Given the description of an element on the screen output the (x, y) to click on. 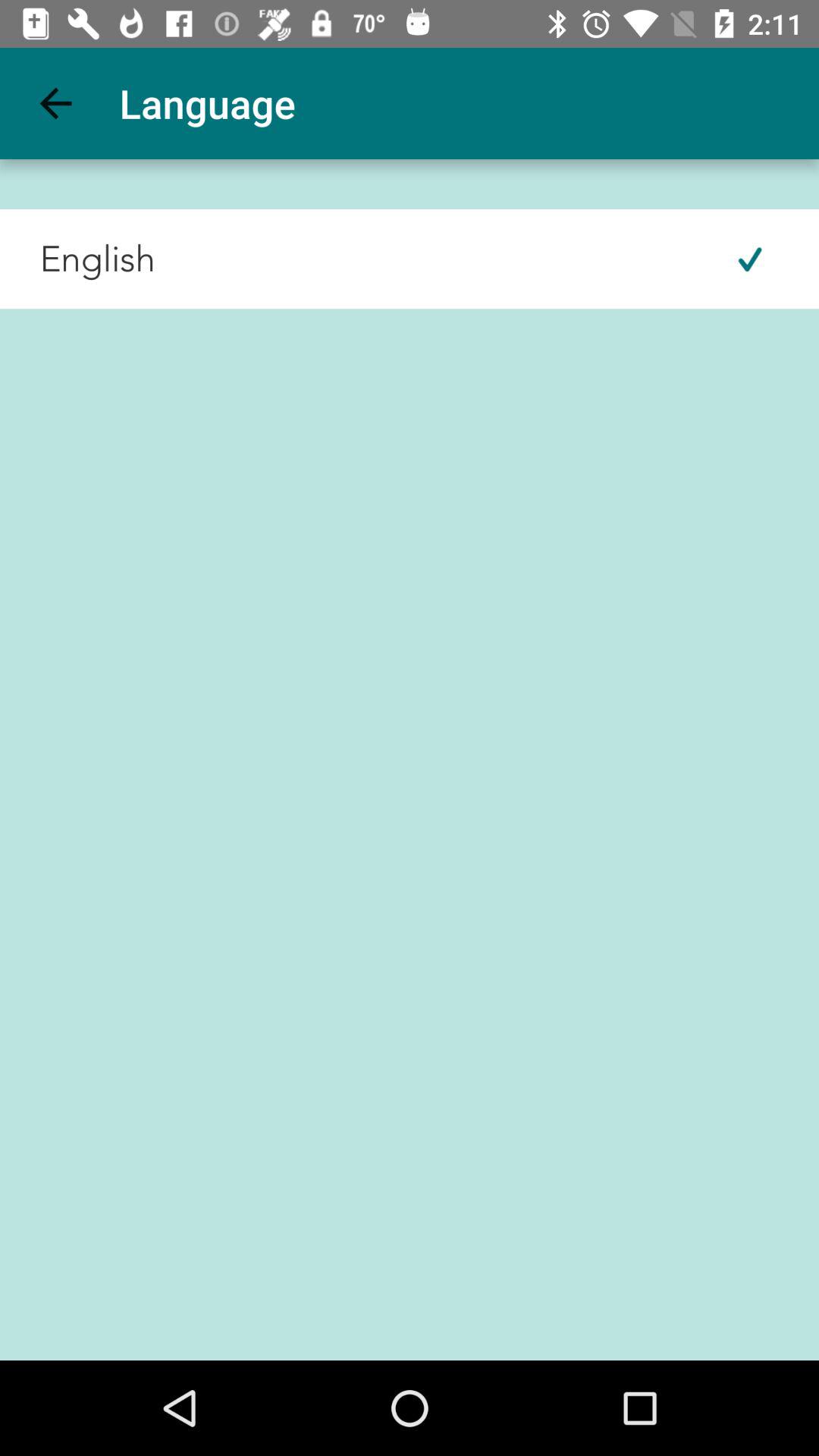
launch item next to the language (55, 103)
